Given the description of an element on the screen output the (x, y) to click on. 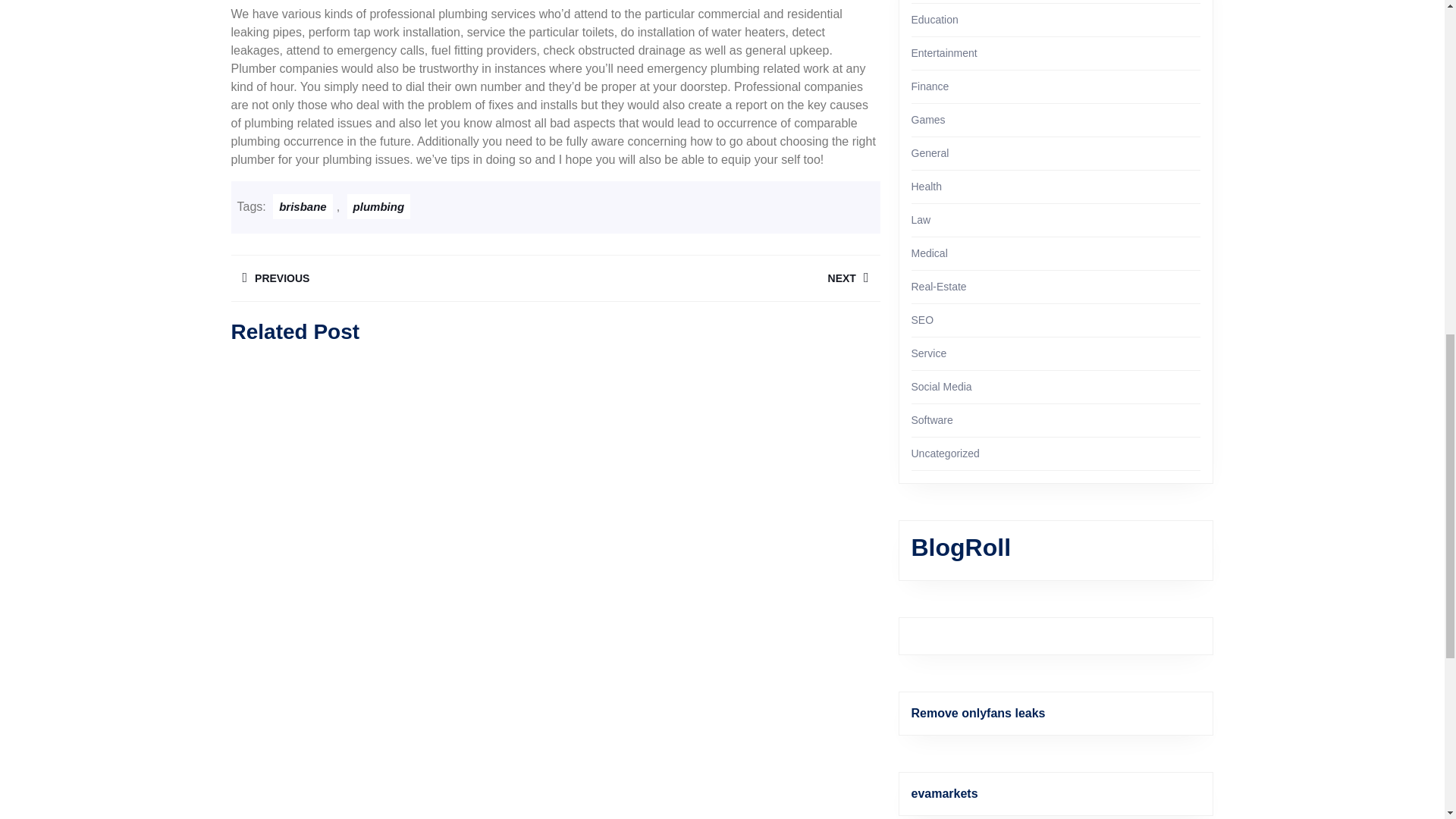
Games (927, 119)
General (930, 152)
Law (921, 219)
Health (926, 186)
Education (934, 19)
Finance (930, 86)
plumbing (378, 206)
Medical (929, 253)
Entertainment (392, 277)
brisbane (943, 52)
